Given the description of an element on the screen output the (x, y) to click on. 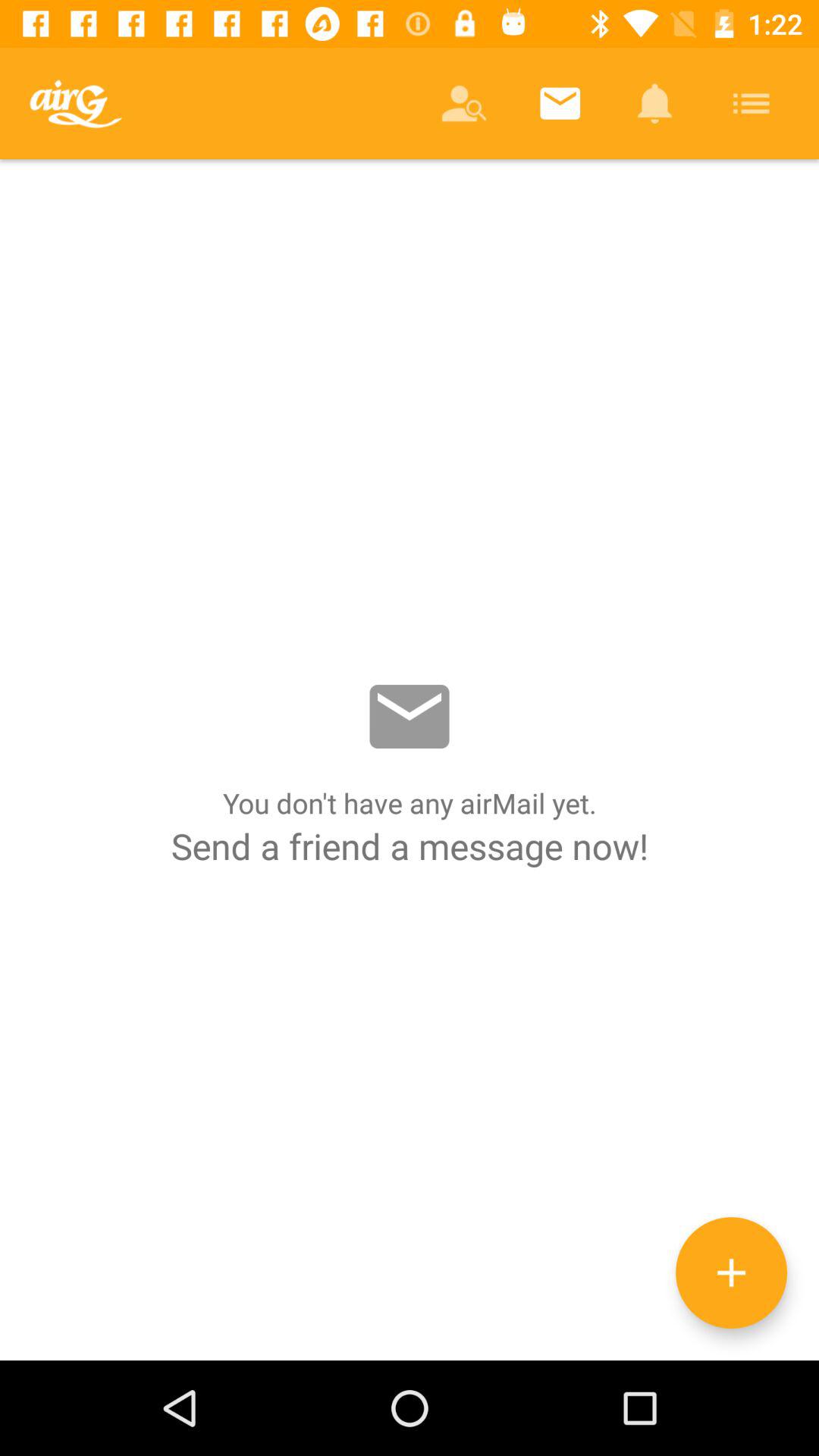
draft message (731, 1272)
